Given the description of an element on the screen output the (x, y) to click on. 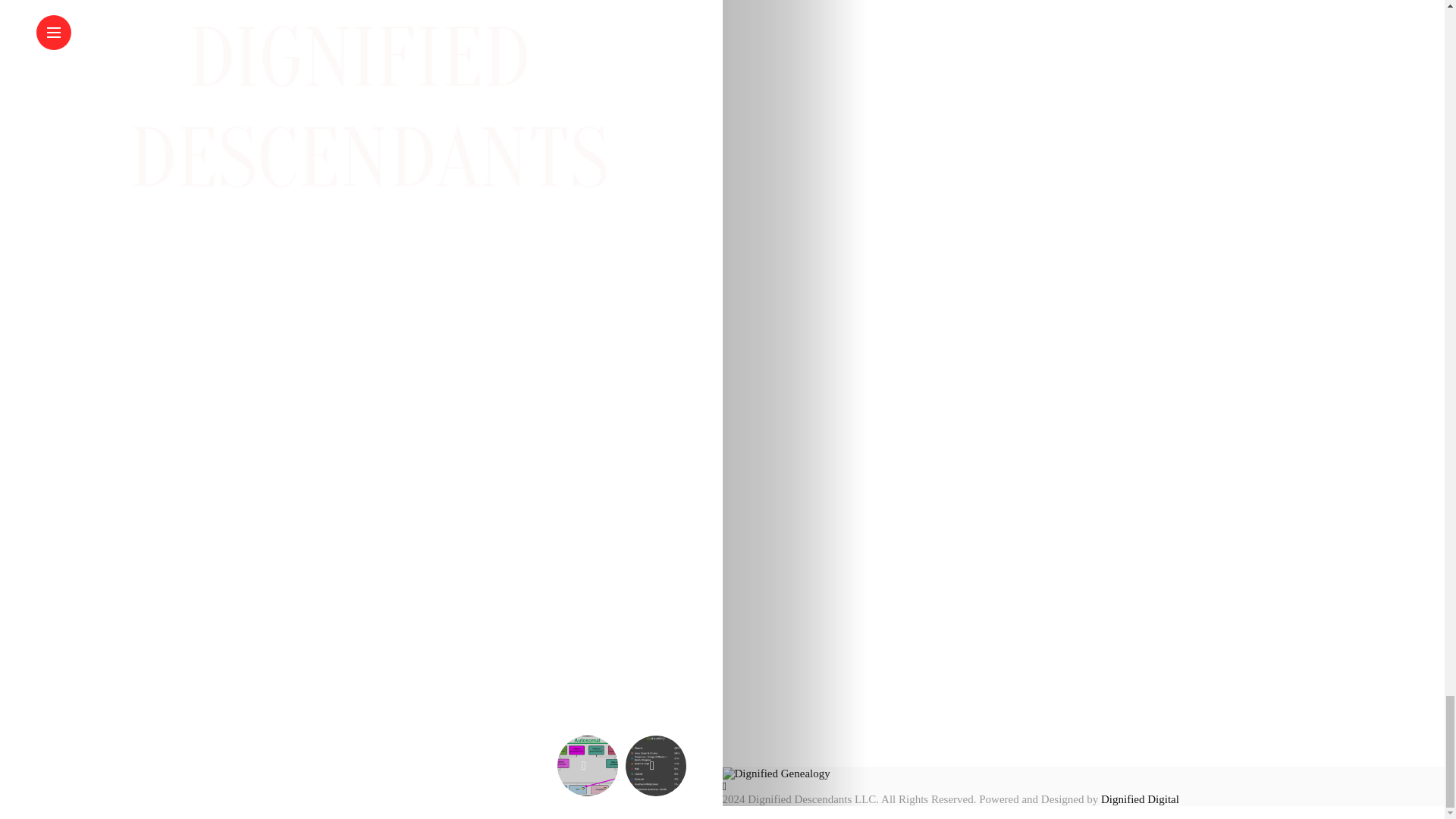
subscribe (41, 614)
Post Comment (93, 672)
yes (360, 507)
subscribe (41, 573)
